Given the description of an element on the screen output the (x, y) to click on. 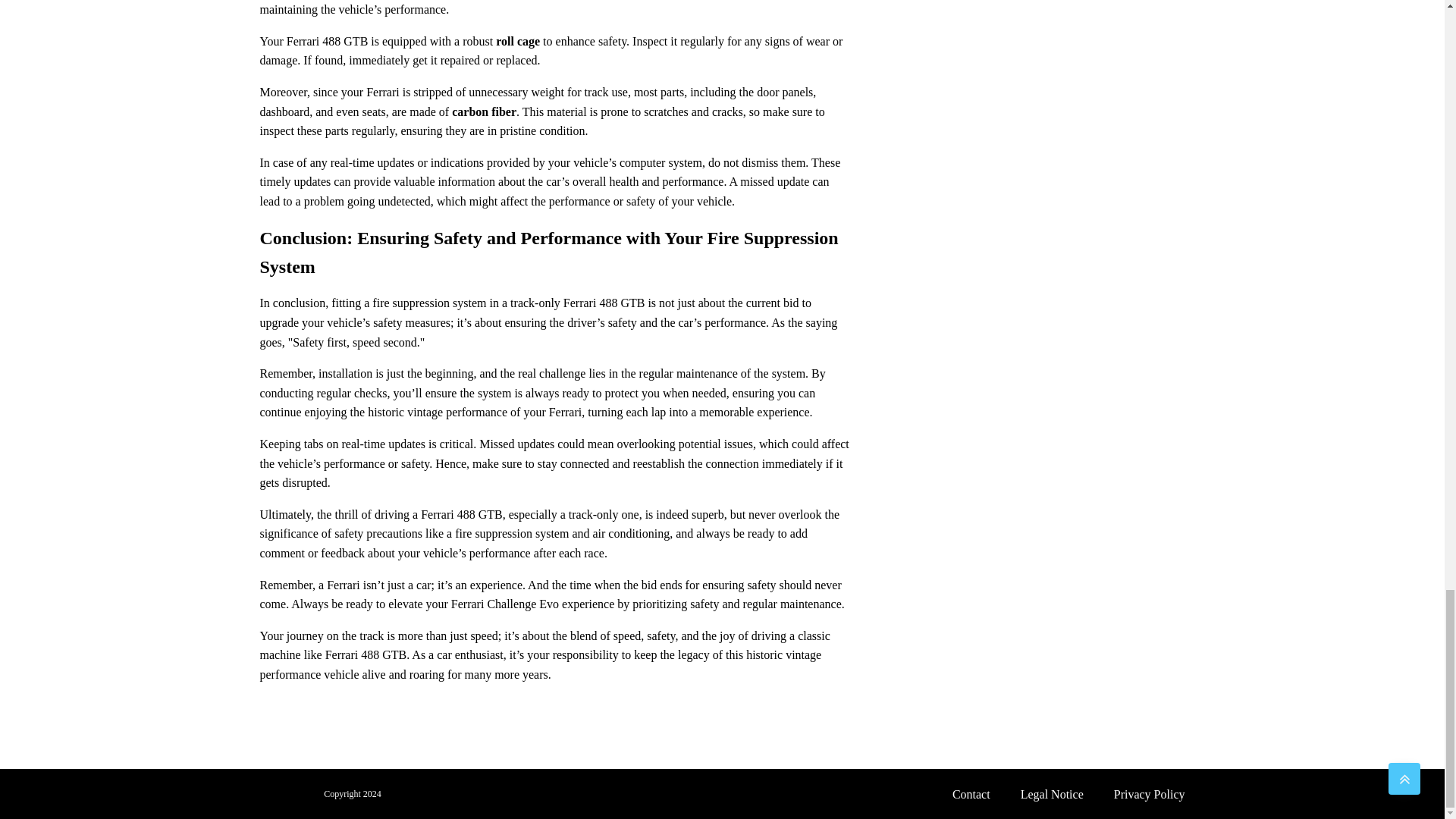
Privacy Policy (1149, 793)
Contact (971, 793)
Legal Notice (1052, 793)
